Given the description of an element on the screen output the (x, y) to click on. 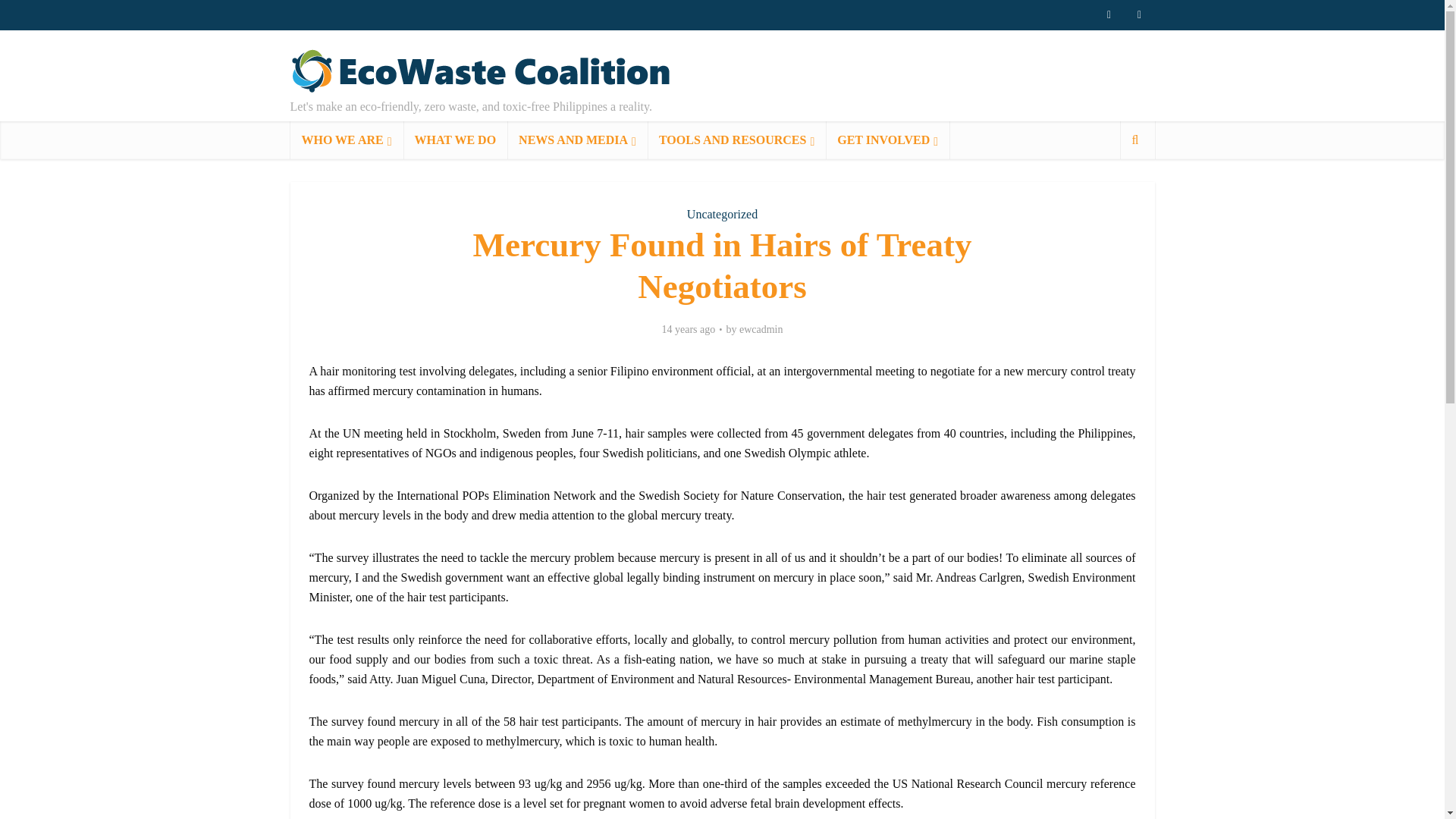
WHO WE ARE (346, 139)
NEWS AND MEDIA (576, 139)
Uncategorized (722, 214)
GET INVOLVED (887, 139)
ewcadmin (761, 329)
Ecowaste Coalition (483, 71)
TOOLS AND RESOURCES (736, 139)
WHAT WE DO (455, 139)
